Given the description of an element on the screen output the (x, y) to click on. 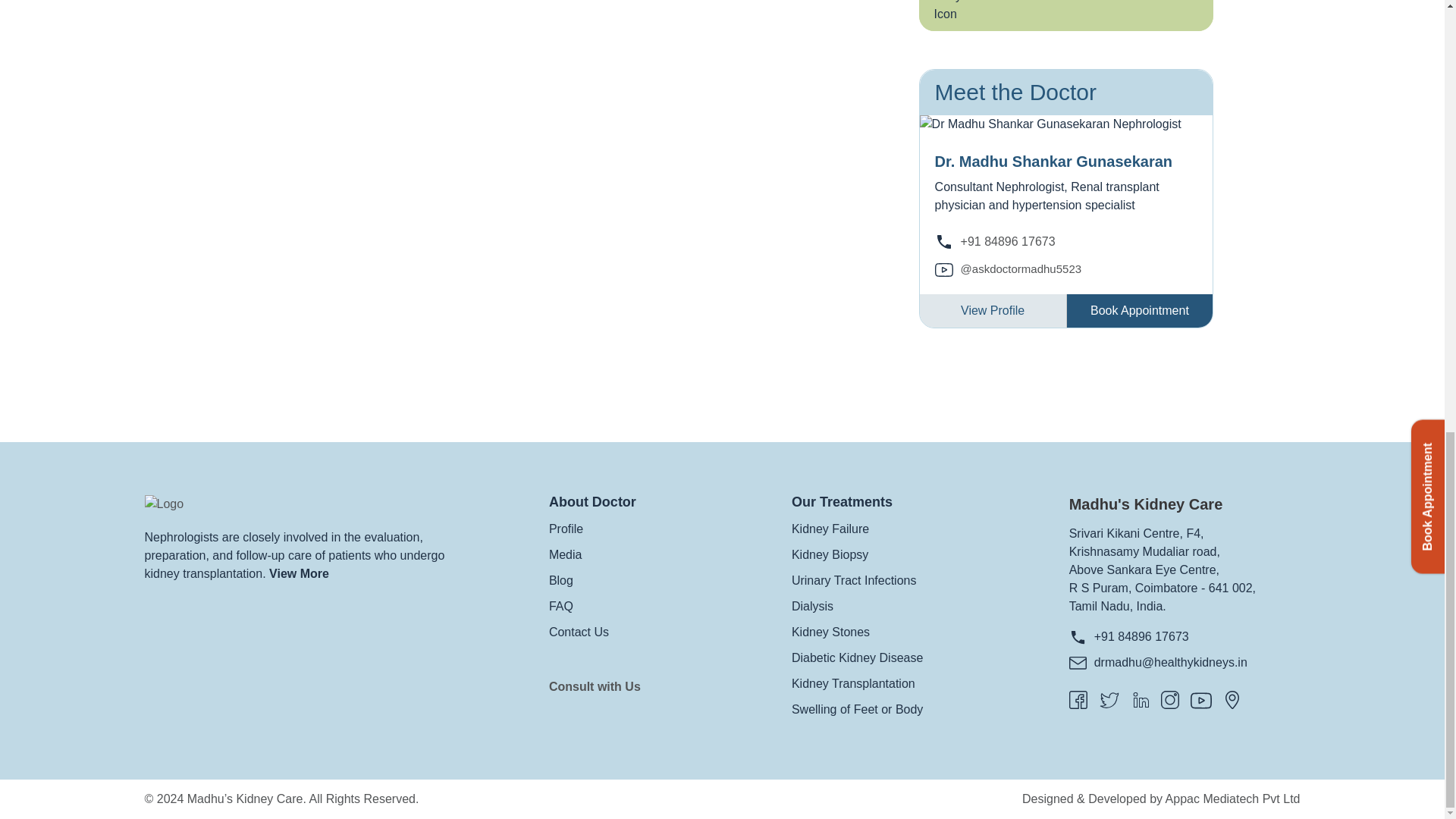
Blog (560, 580)
Contact Us (578, 631)
Media (565, 554)
View More (299, 573)
Kidney Biopsy (829, 554)
Swelling of feet or Body (948, 11)
Profile (565, 528)
FAQ (560, 605)
Doctor Madhu Shankar (1050, 124)
Swelling of feet or Body (1066, 15)
View Profile (992, 310)
Kidney Failure (830, 528)
Consult with Us (594, 686)
Book Appointment (1138, 310)
